Given the description of an element on the screen output the (x, y) to click on. 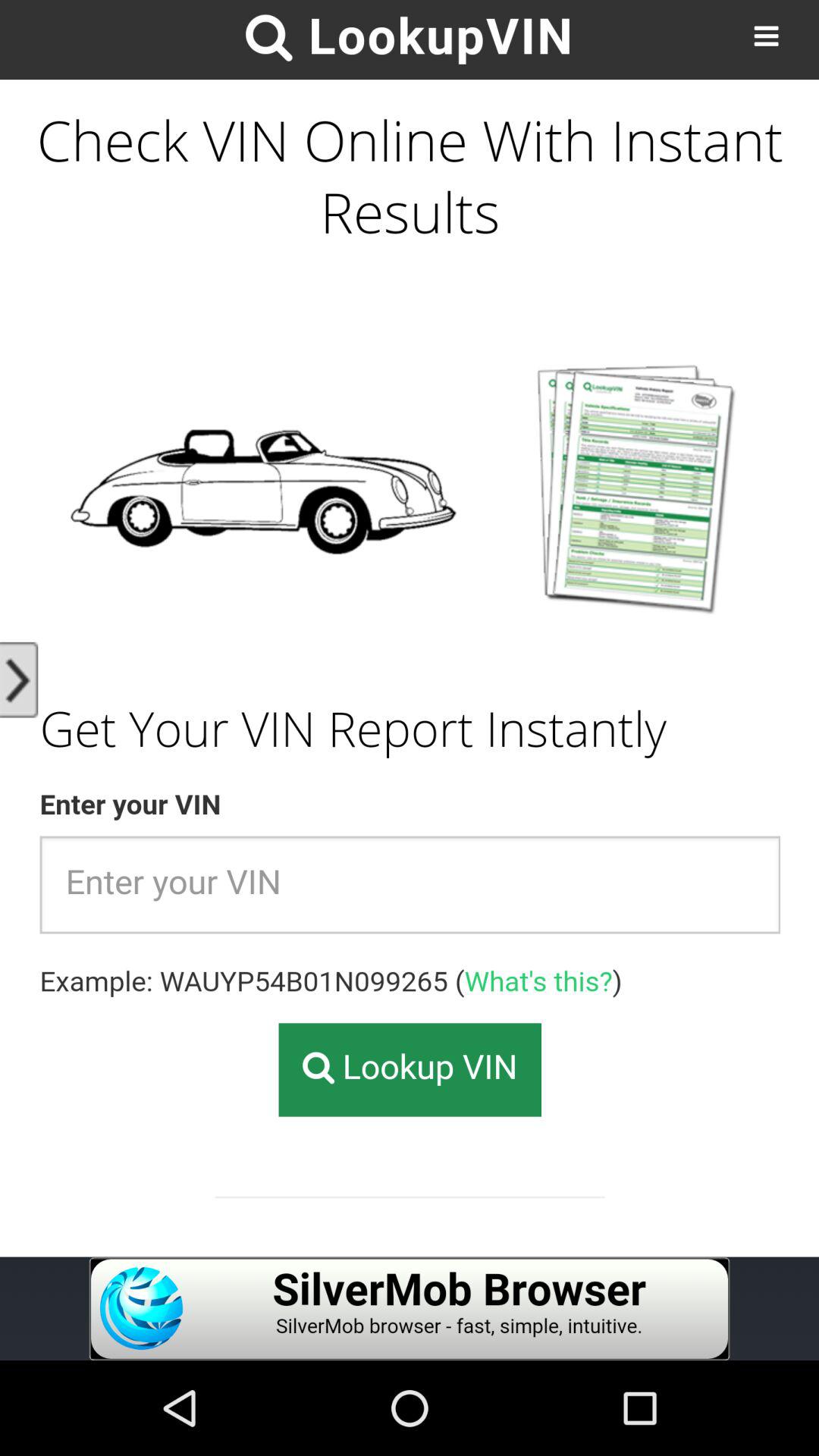
advertisement (409, 1308)
